Given the description of an element on the screen output the (x, y) to click on. 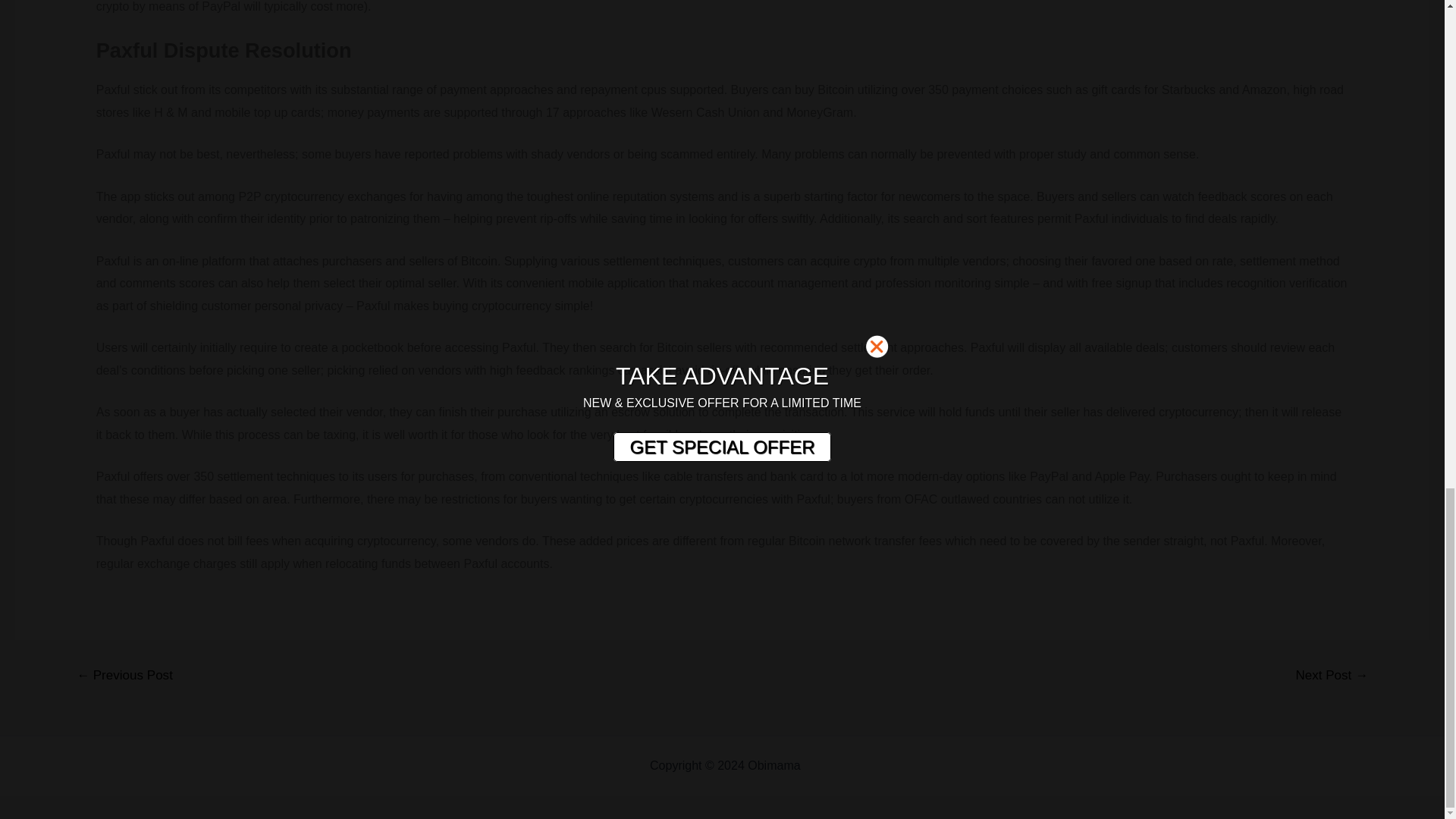
Sitemap (825, 765)
